Given the description of an element on the screen output the (x, y) to click on. 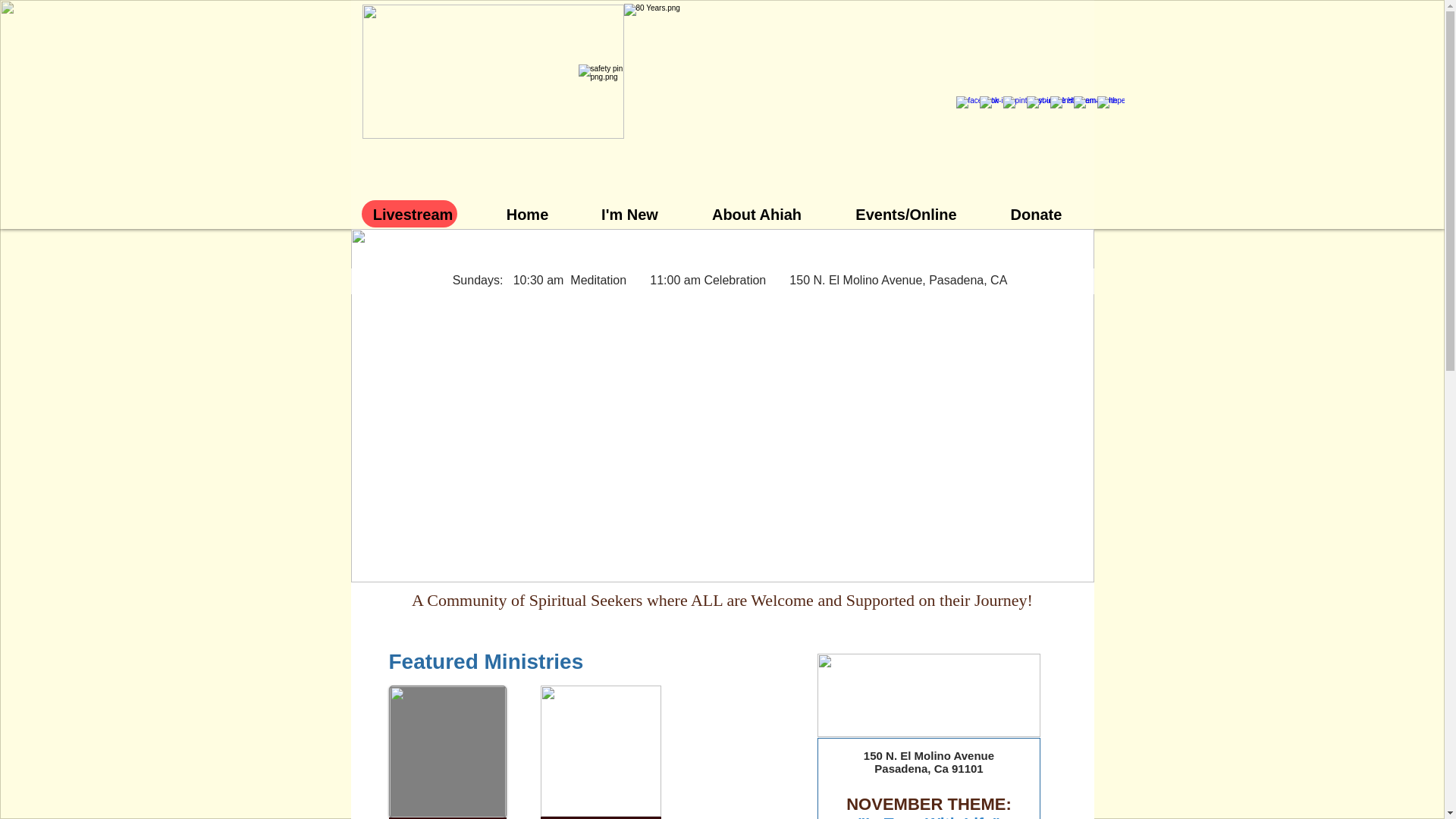
About Ahiah (756, 213)
I'm New (630, 213)
Donate (1036, 213)
Home (527, 213)
Livestream (413, 213)
